Given the description of an element on the screen output the (x, y) to click on. 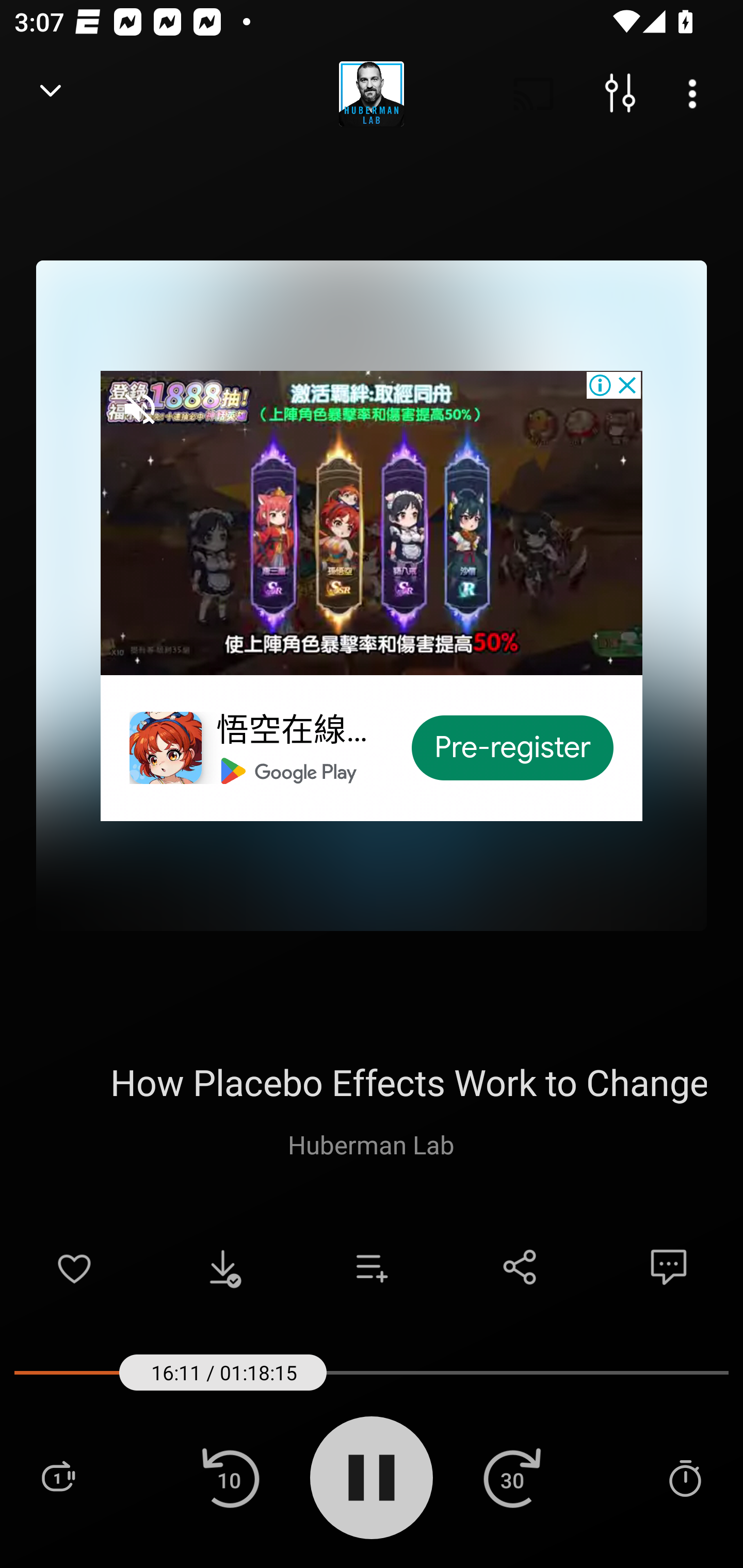
 Back (50, 94)
悟空在線… Pre-register Pre-register (371, 595)
Pre-register (512, 747)
Huberman Lab (370, 1144)
Comments (668, 1266)
Add to Favorites (73, 1266)
Add to playlist (371, 1266)
Share (519, 1266)
 Playlist (57, 1477)
Sleep Timer  (684, 1477)
